Given the description of an element on the screen output the (x, y) to click on. 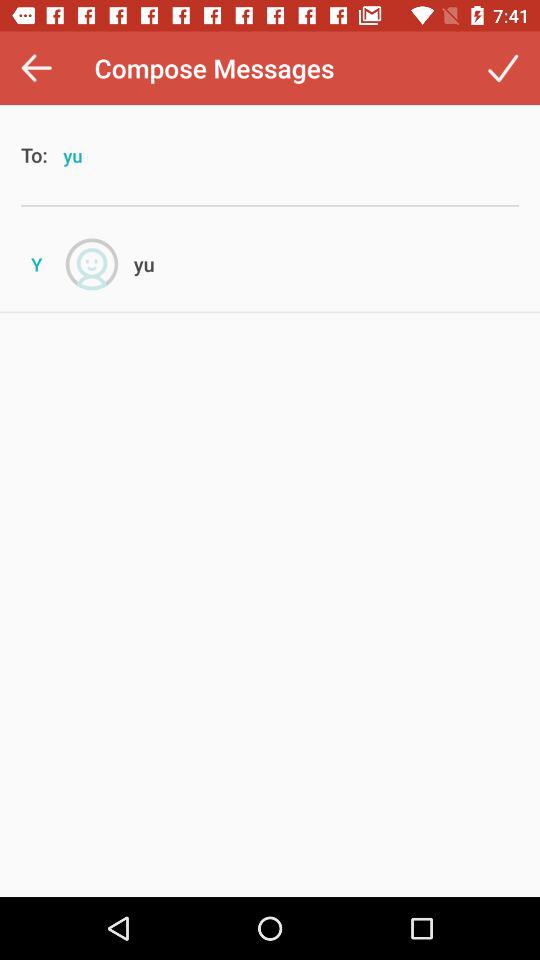
choose the item at the top right corner (502, 67)
